Given the description of an element on the screen output the (x, y) to click on. 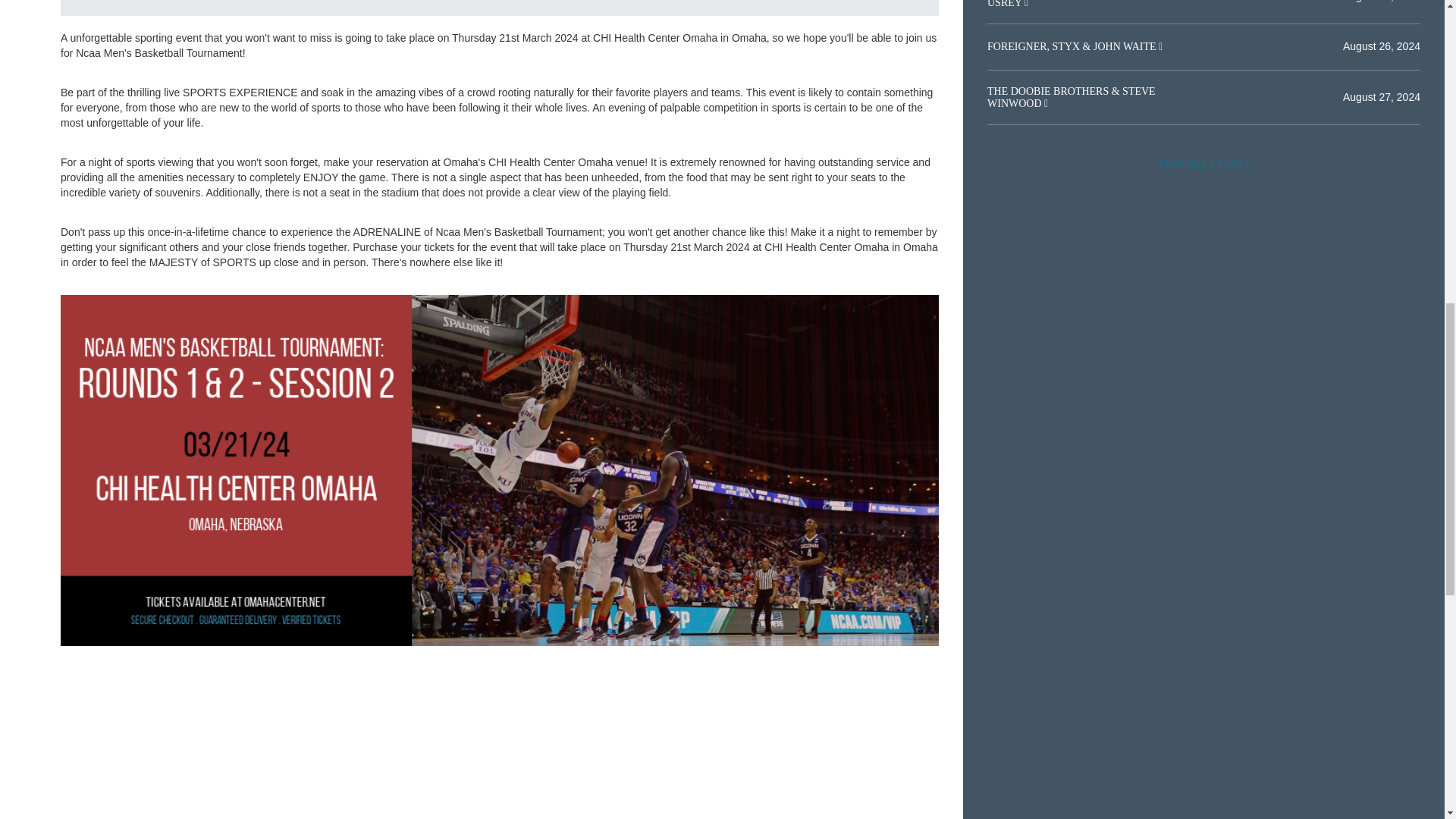
VIEW ALL EVENTS (1203, 163)
